Given the description of an element on the screen output the (x, y) to click on. 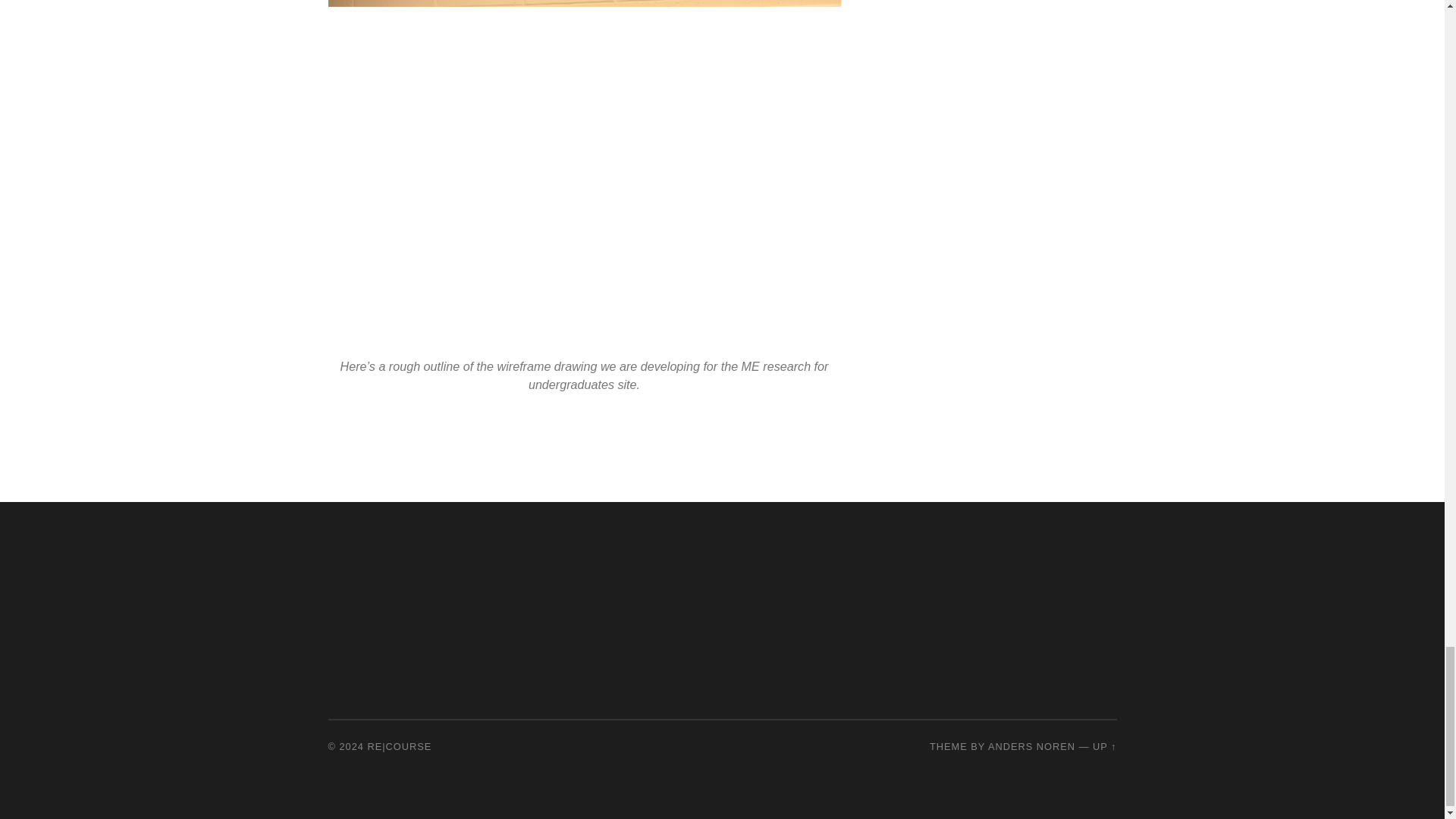
To the top (1104, 746)
